Given the description of an element on the screen output the (x, y) to click on. 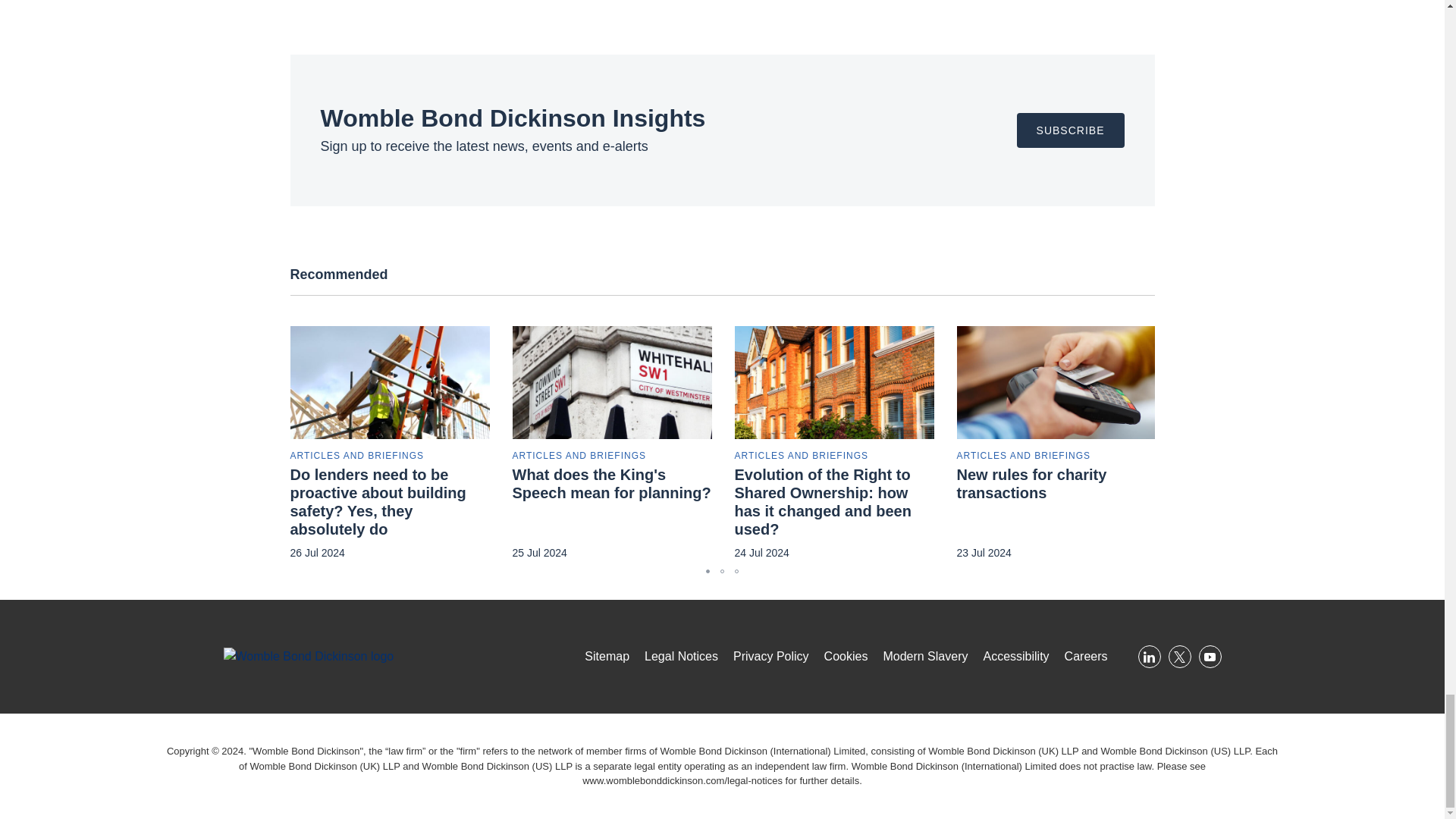
sign up to receive the latest news, events and e-alerts (1070, 130)
Legal Notices (682, 780)
